Given the description of an element on the screen output the (x, y) to click on. 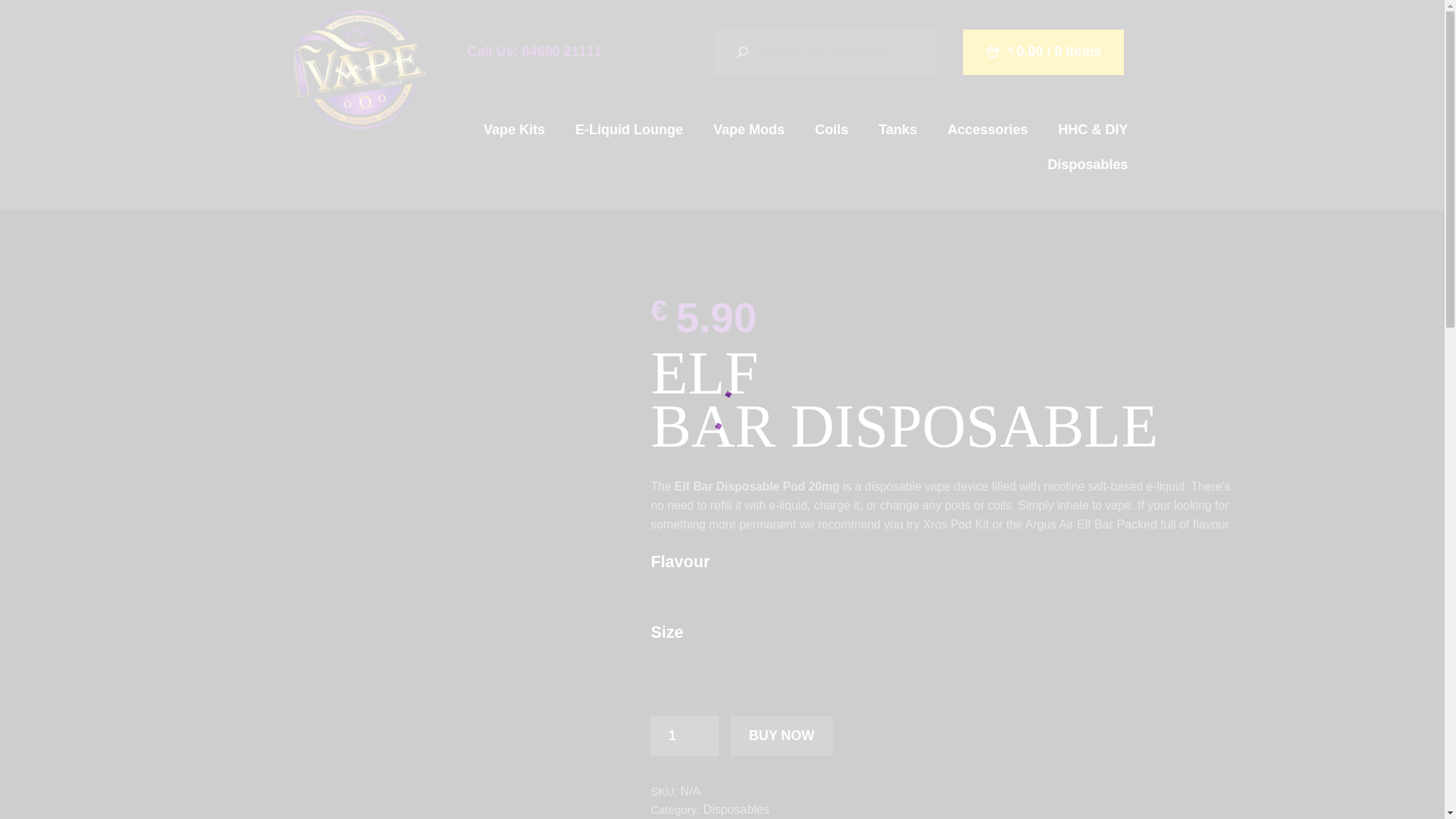
Vape Mods (748, 129)
SEARCH (737, 52)
Disposables (1087, 164)
Accessories (986, 129)
Qty (684, 735)
Coils (831, 129)
1 (684, 735)
Call Us: 04690 21111 (534, 52)
E-Liquid Lounge (629, 129)
Tanks (898, 129)
